Given the description of an element on the screen output the (x, y) to click on. 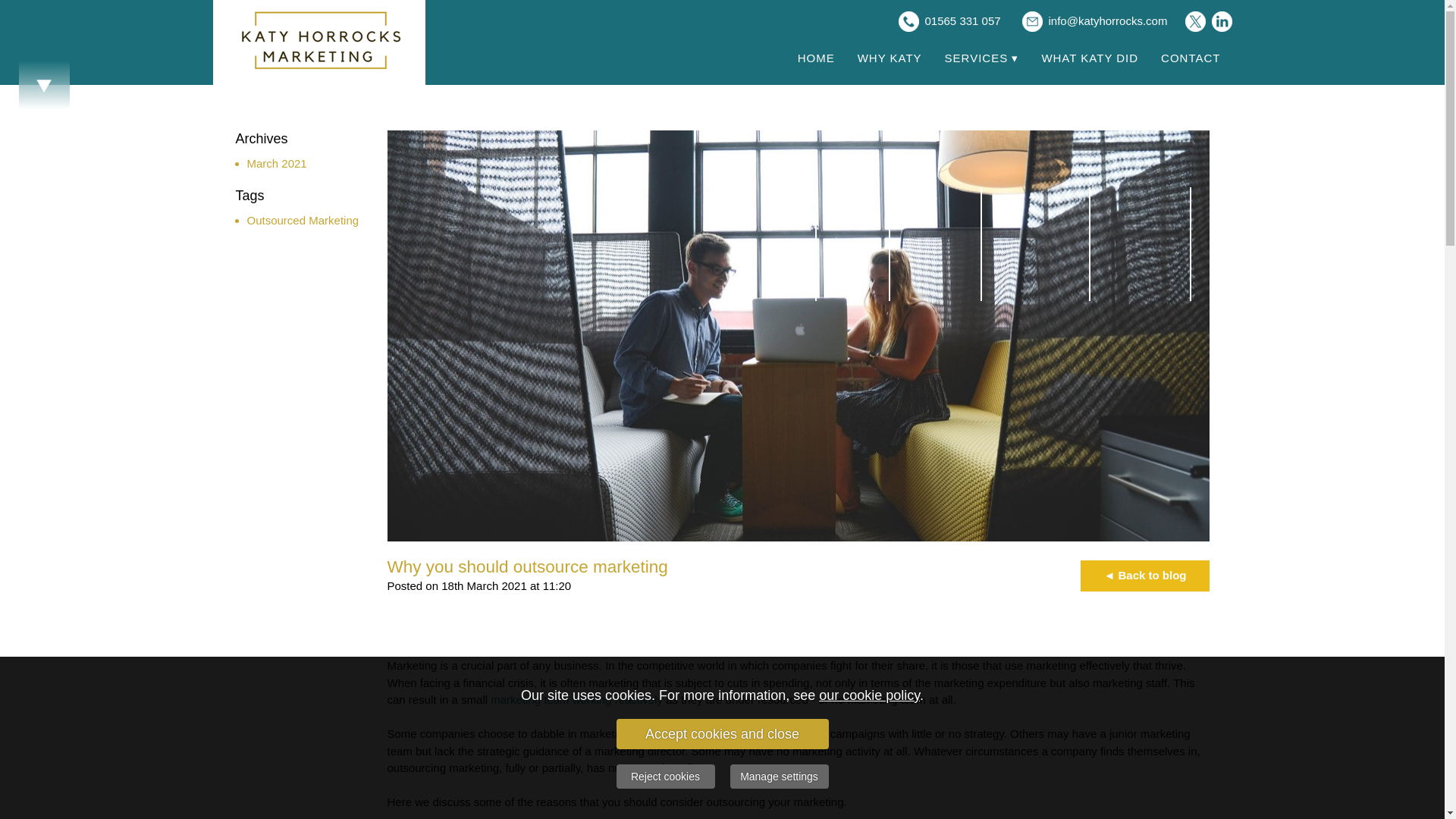
Outsourced Marketing (303, 219)
March 2021 (277, 162)
WHY KATY (889, 58)
marketing team working reactively (576, 698)
CONTACT (1190, 58)
Back to blog (1144, 575)
HOME (815, 58)
WHAT KATY DID (1089, 58)
